Given the description of an element on the screen output the (x, y) to click on. 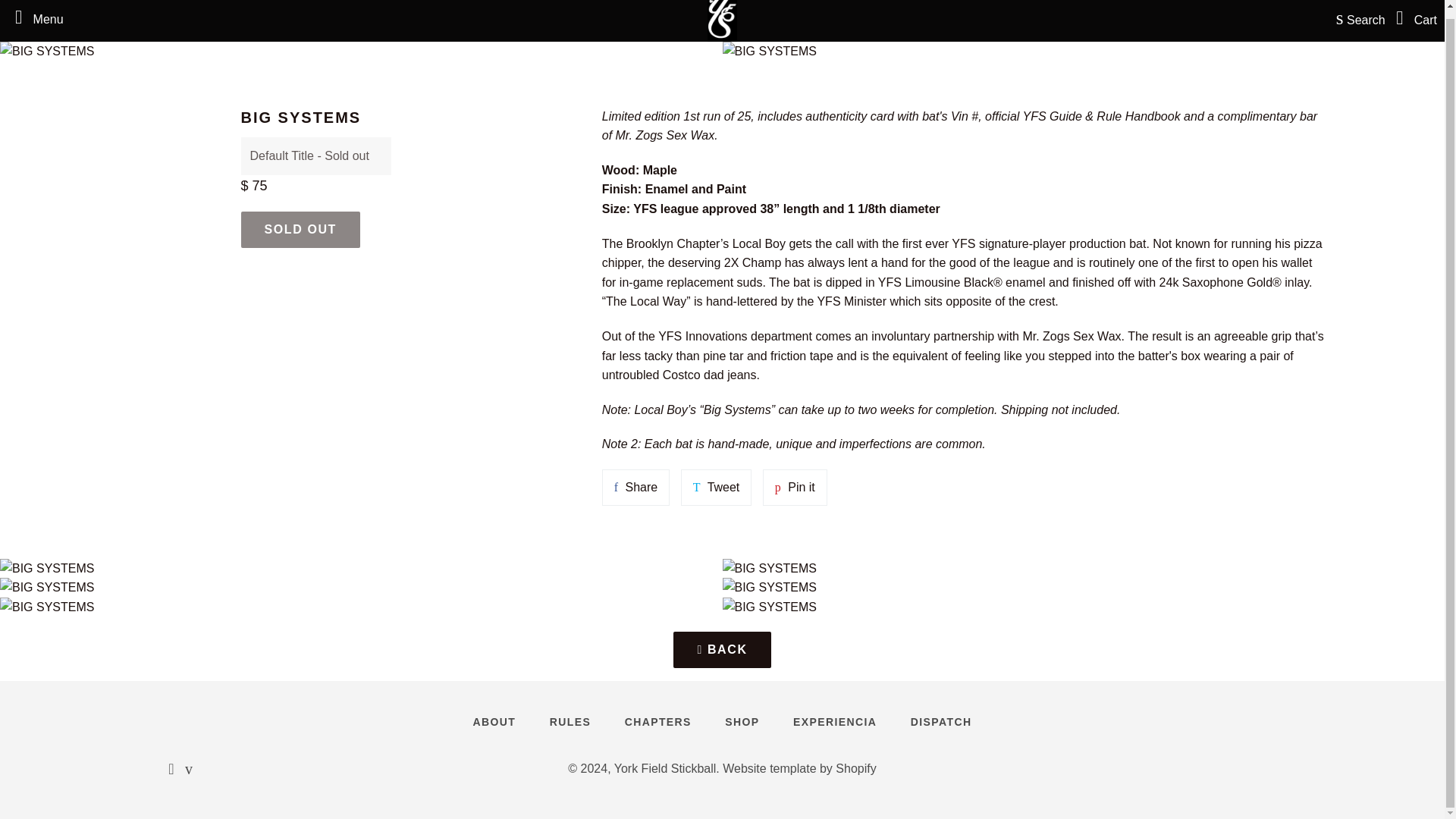
Share on Facebook (635, 487)
SOLD OUT (300, 229)
CHAPTERS (658, 722)
York Field Stickball (665, 768)
SHOP (716, 487)
RULES (742, 722)
DISPATCH (569, 722)
ABOUT (941, 722)
BACK (494, 722)
